Given the description of an element on the screen output the (x, y) to click on. 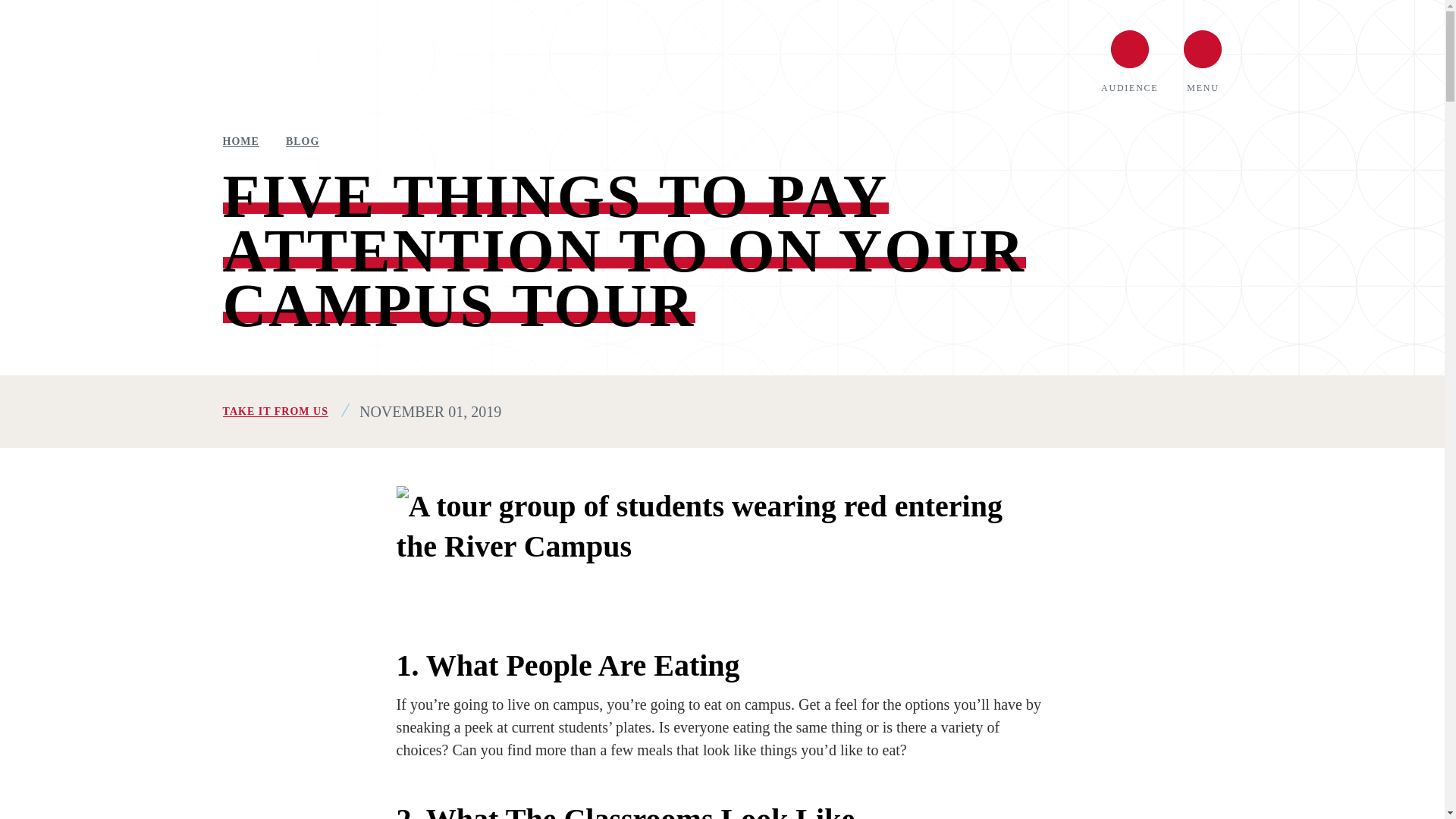
BLOG (301, 141)
TAKE IT FROM US (275, 410)
Southeast Missouri State University (386, 61)
HOME (240, 141)
AUDIENCE (1128, 61)
MENU (1202, 61)
